Given the description of an element on the screen output the (x, y) to click on. 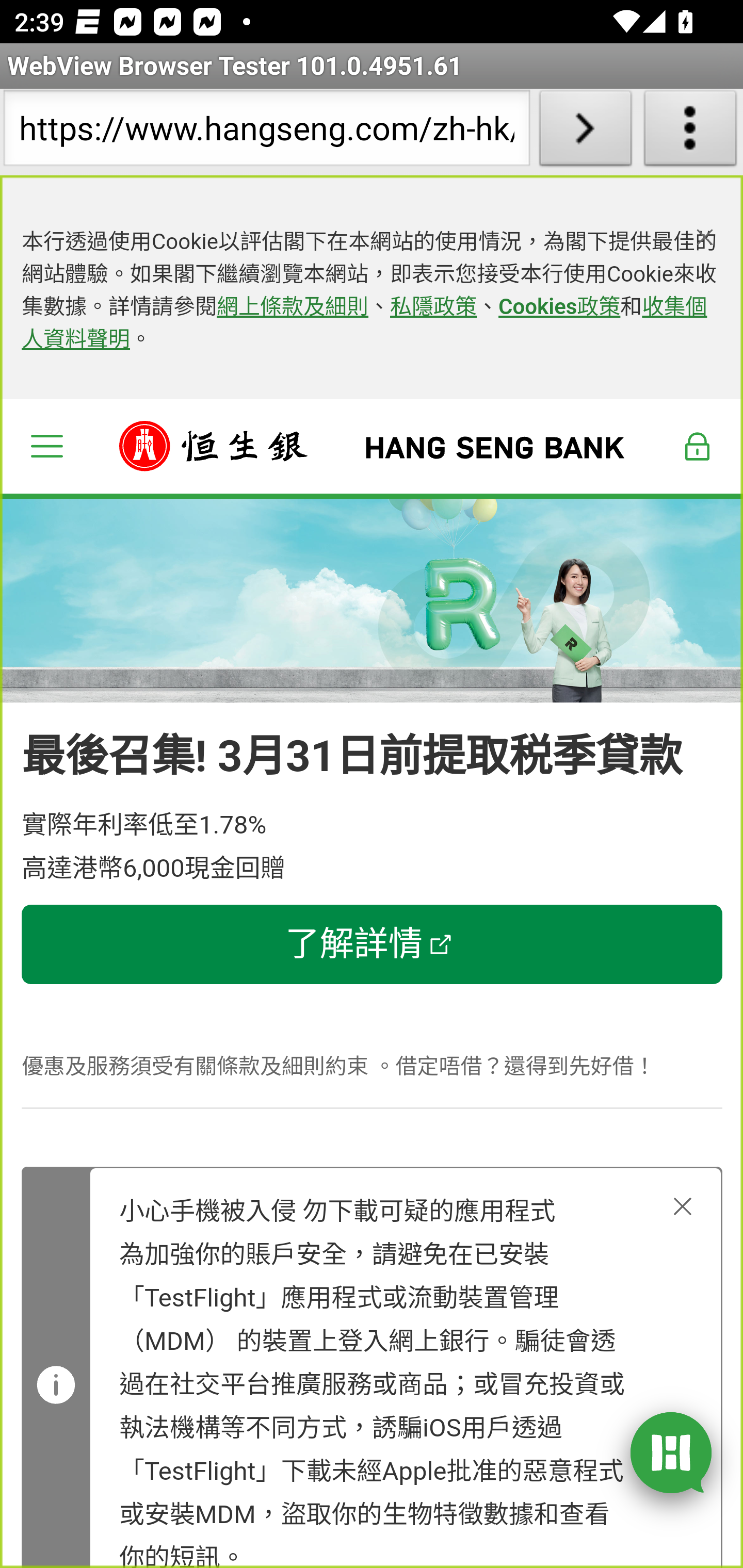
https://www.hangseng.com/zh-hk/home/ (266, 132)
Load URL (585, 132)
About WebView (690, 132)
收集個人資料聲明 (364, 324)
網上條款及細則 (293, 306)
私隱政策 (434, 306)
Cookies政策 (559, 306)
選單 (46, 445)
恒生銀行 (372, 445)
登入 (697, 445)
了解詳情 (於新視窗開啟) (372, 945)
關閉 (683, 1206)
與 HARO 對話 (於新視窗開啟) (670, 1451)
